Given the description of an element on the screen output the (x, y) to click on. 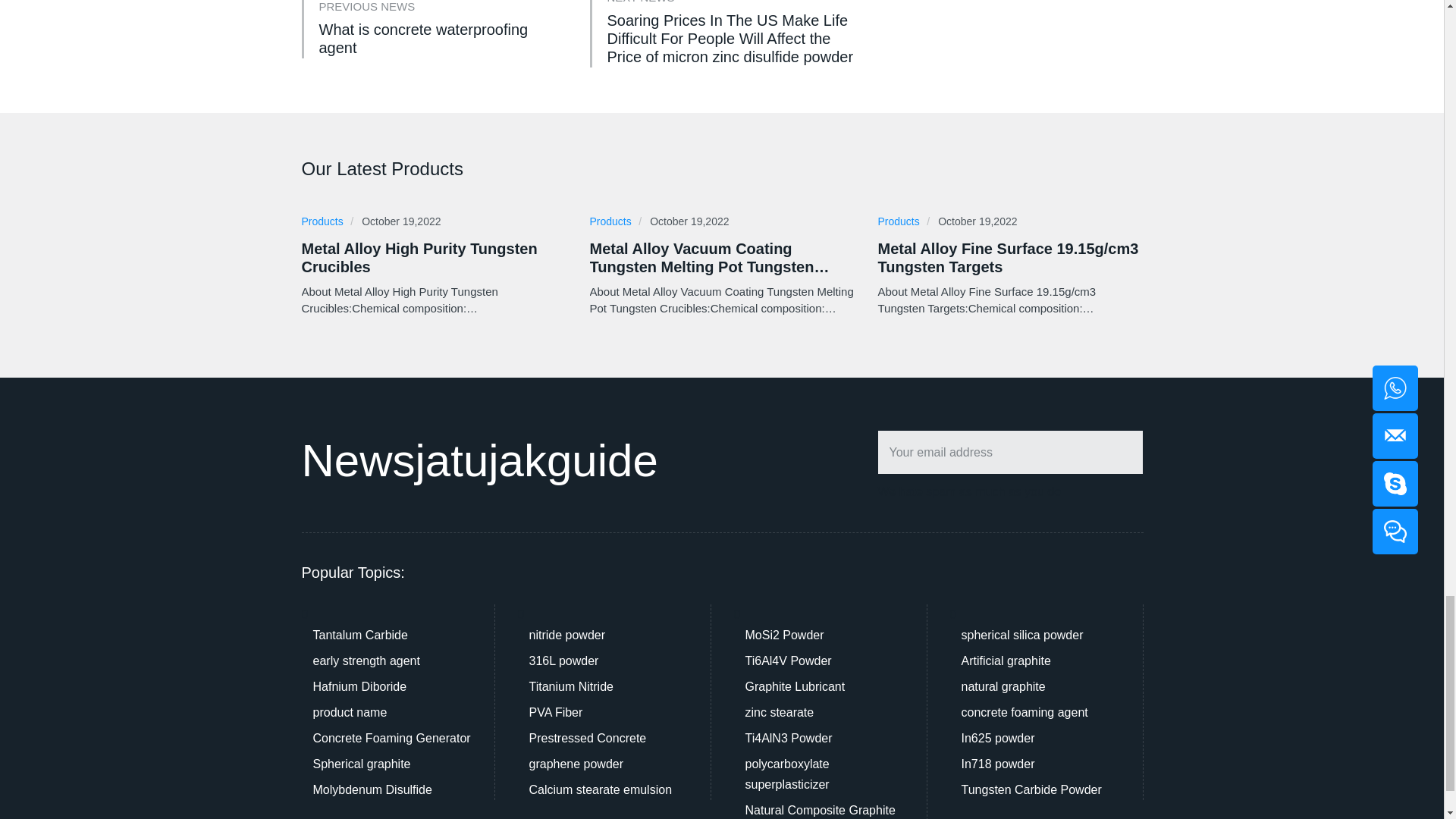
What is concrete waterproofing agent (442, 38)
